Given the description of an element on the screen output the (x, y) to click on. 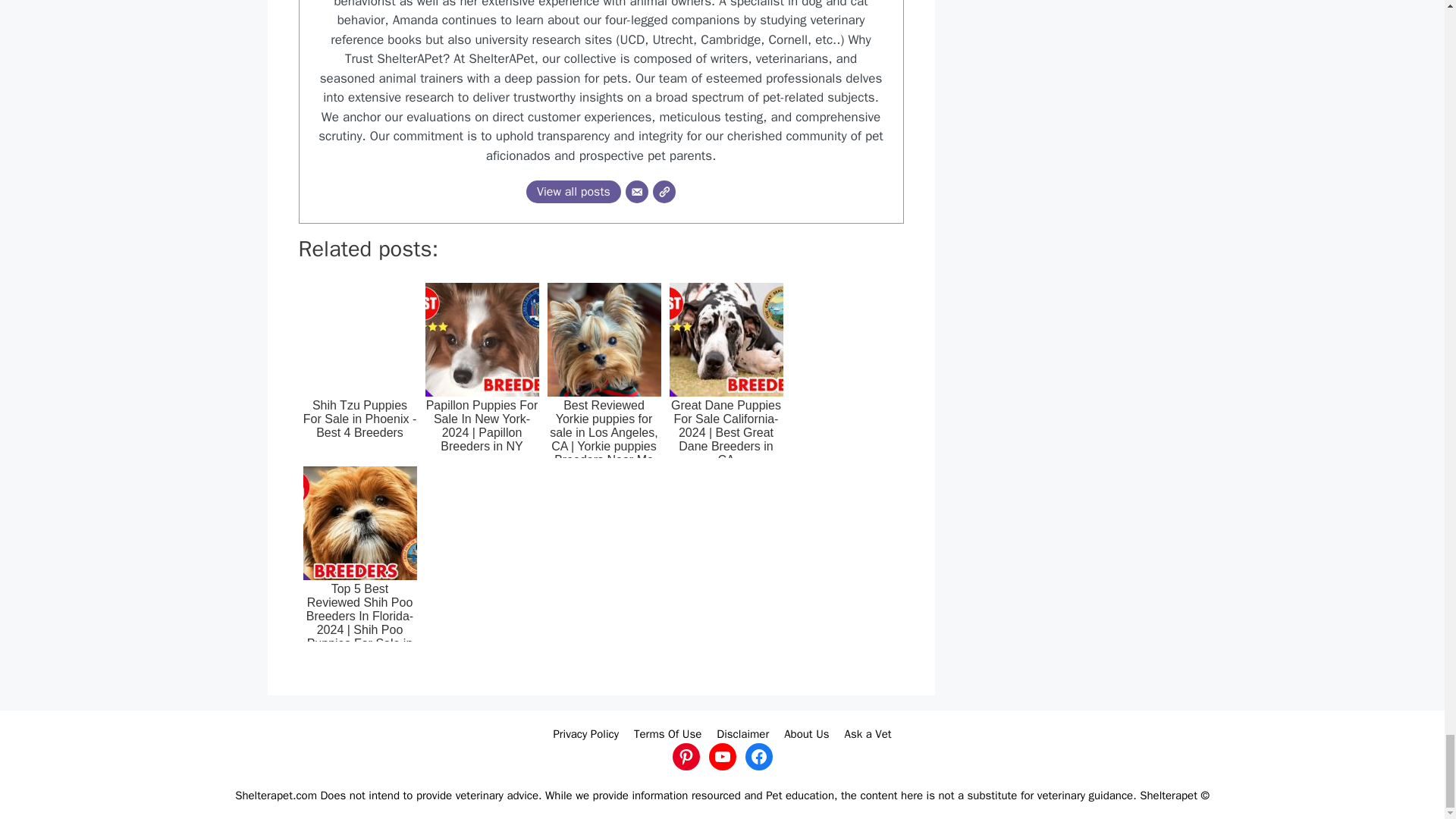
View all posts (573, 191)
View all posts (573, 191)
